Given the description of an element on the screen output the (x, y) to click on. 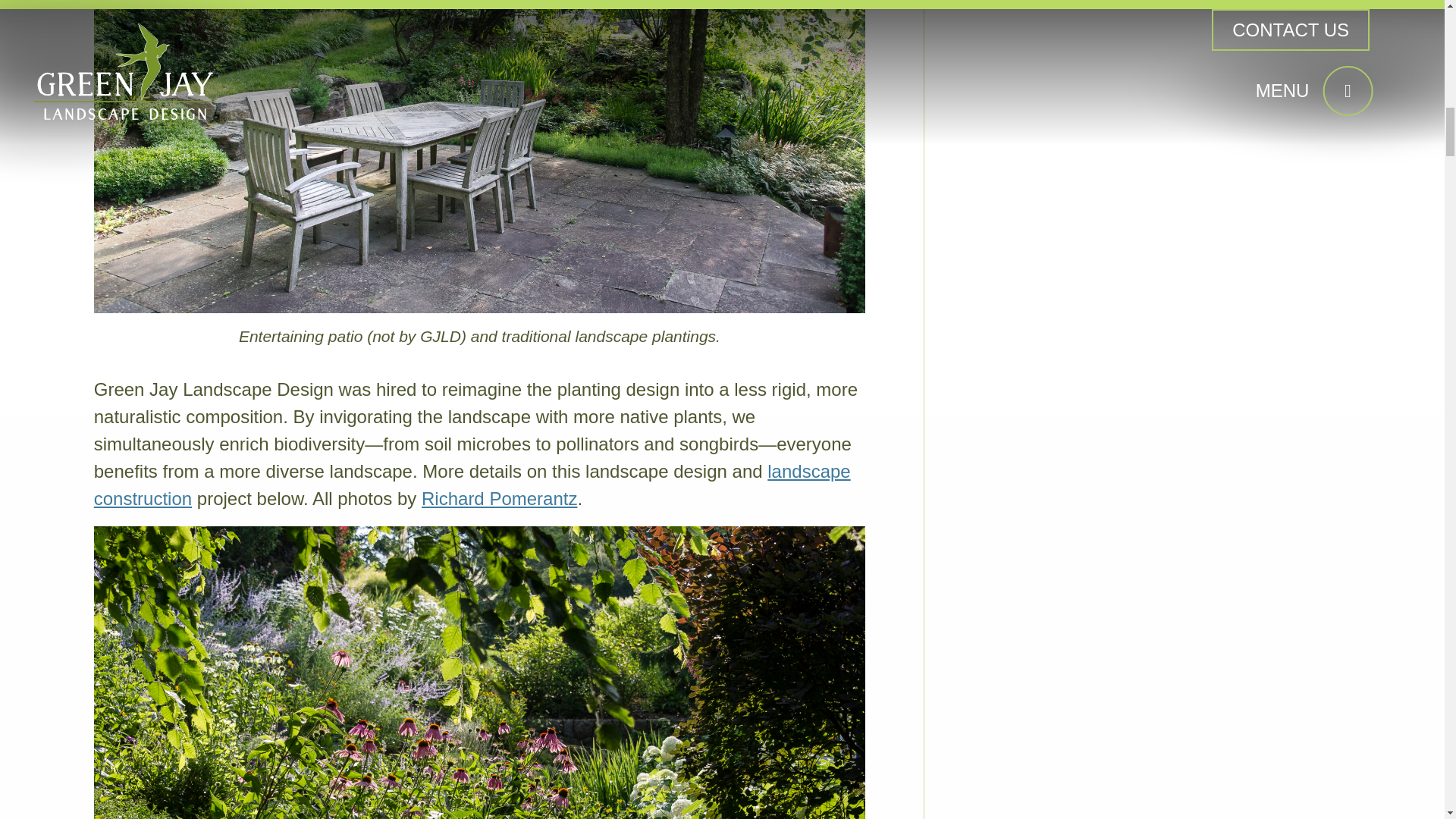
Richard Pomerantz (499, 498)
landscape construction (472, 484)
